Given the description of an element on the screen output the (x, y) to click on. 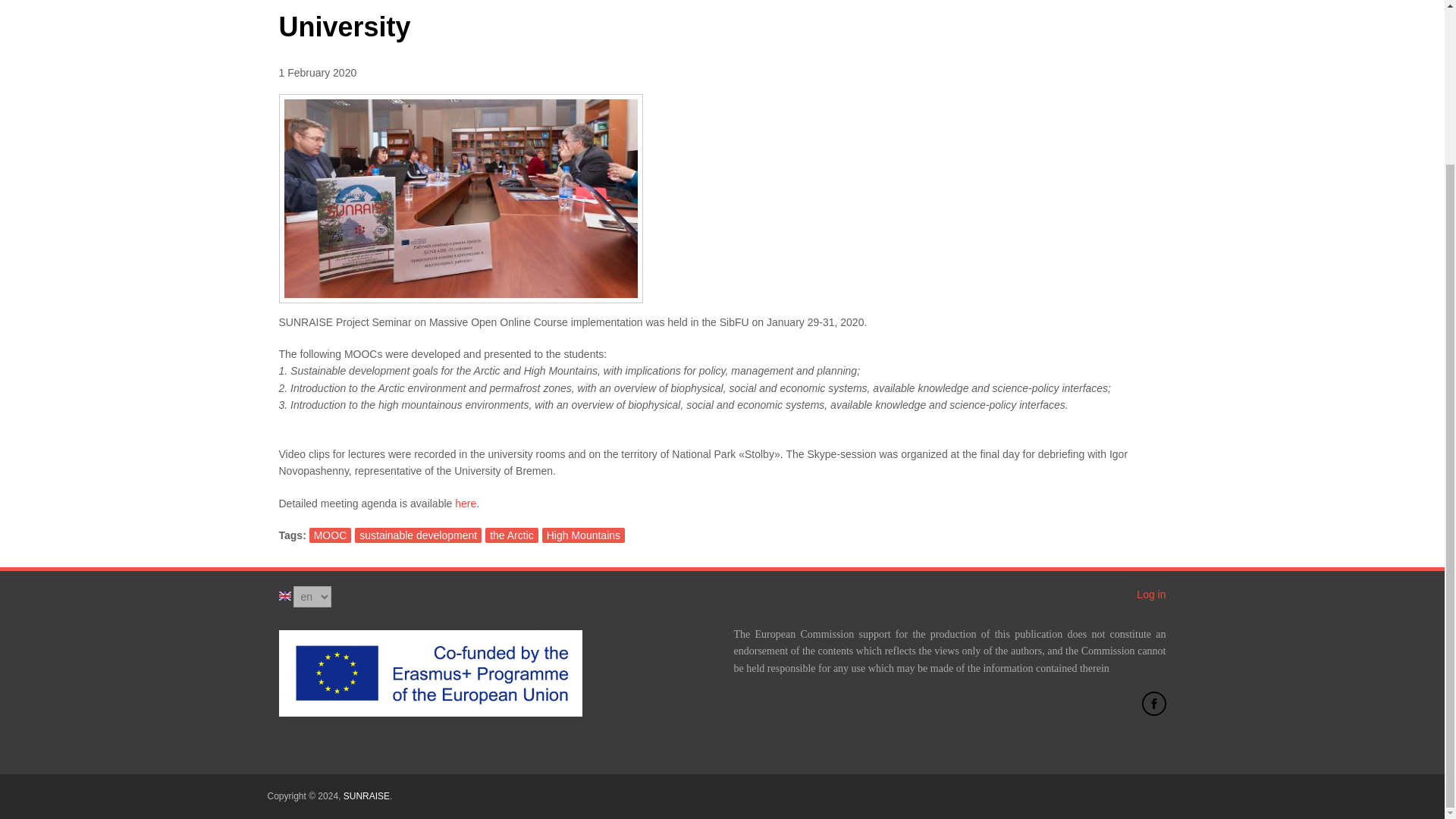
the Arctic (511, 534)
SUNRAISE (366, 796)
en (285, 595)
here (465, 503)
sustainable development (418, 534)
High Mountains (582, 534)
Log in (1151, 594)
MOOC (330, 534)
